Given the description of an element on the screen output the (x, y) to click on. 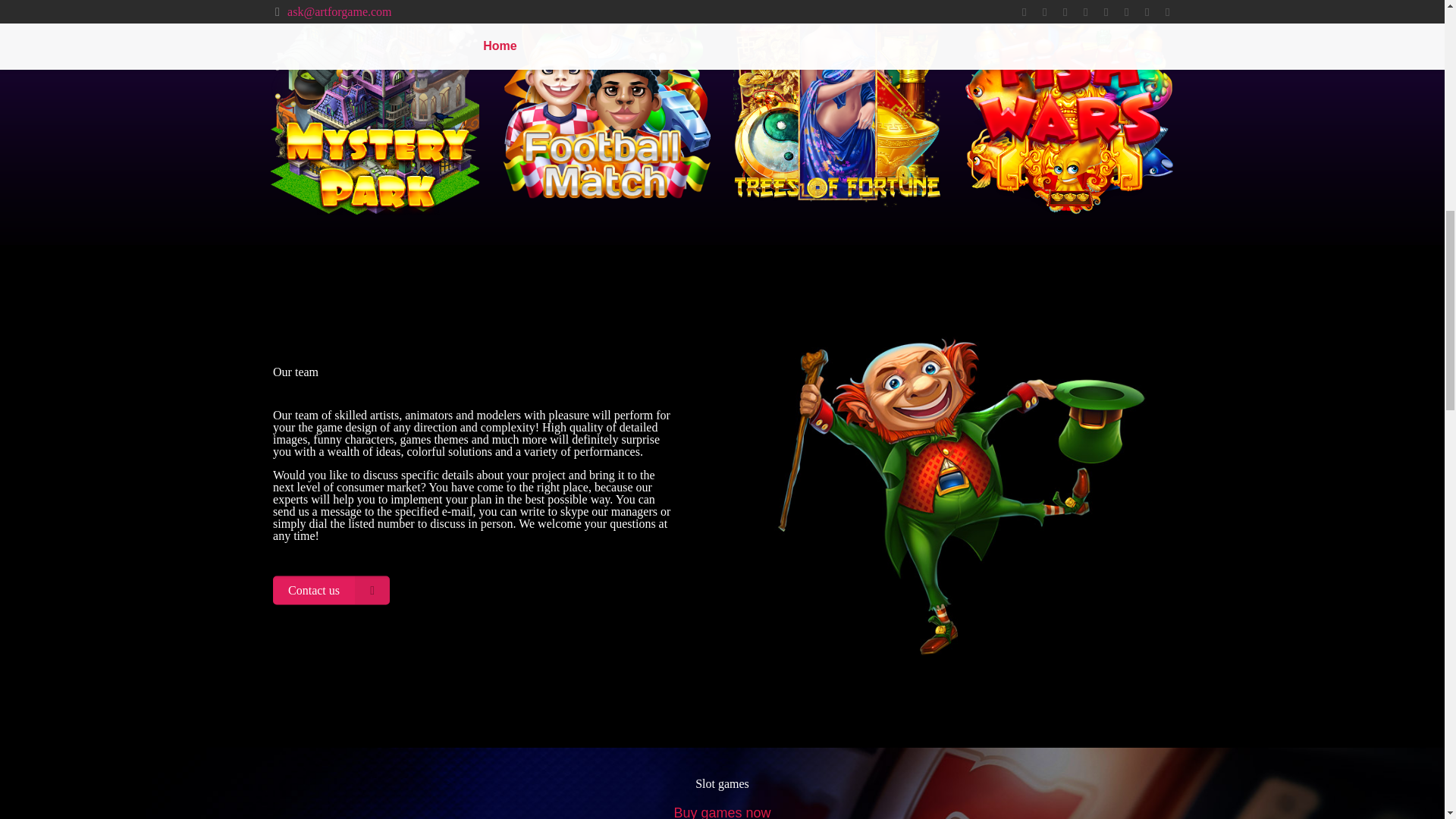
trees of fortune (837, 107)
football match (606, 107)
mystery park (374, 107)
fish wars (1068, 107)
